Given the description of an element on the screen output the (x, y) to click on. 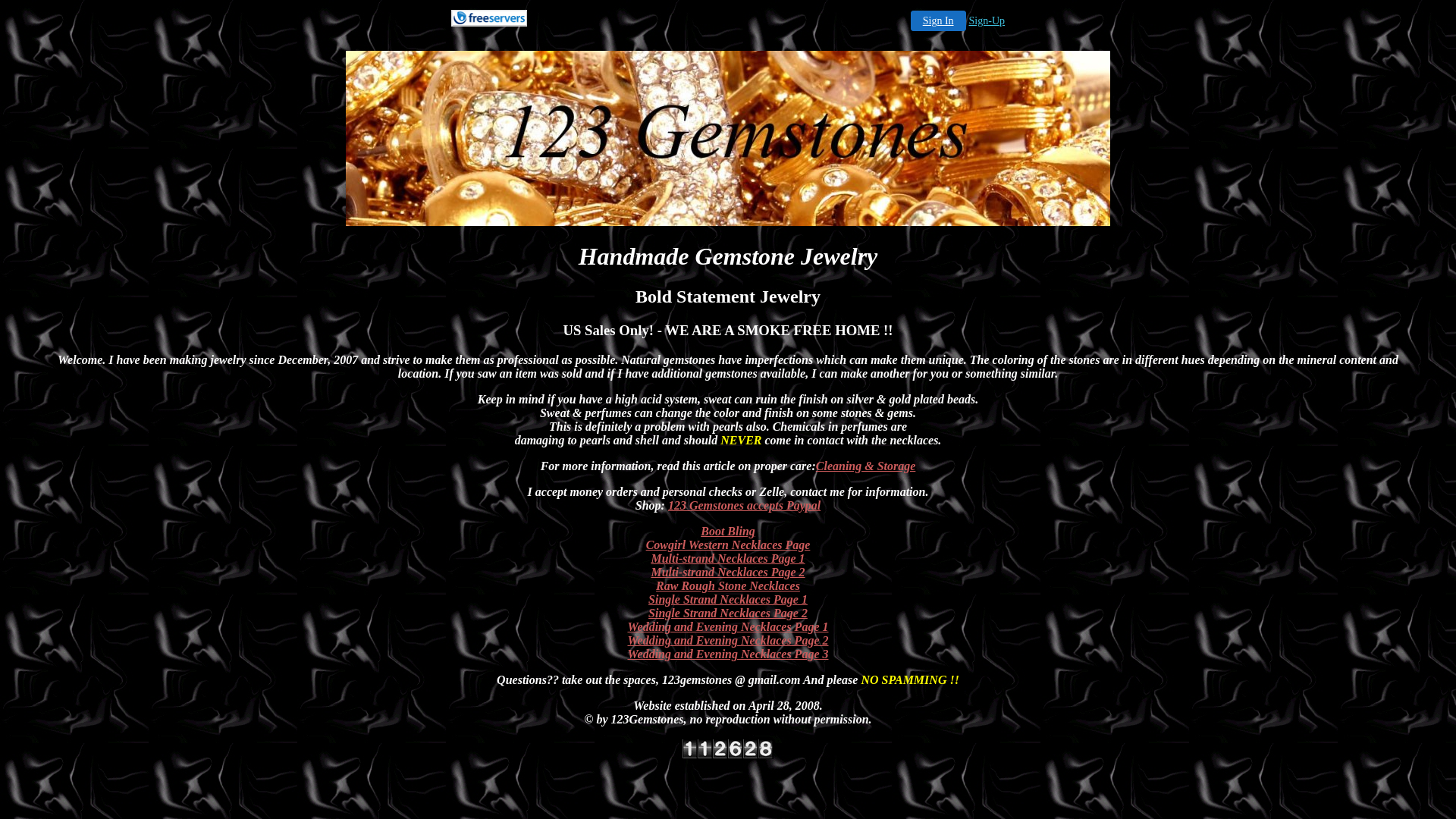
Raw Rough Stone Necklaces Element type: text (727, 585)
Cowgirl Western Necklaces Page Element type: text (728, 544)
Single Strand Necklaces Page 1 Element type: text (727, 599)
Cleaning & Storage Element type: text (865, 465)
Multi-strand Necklaces Page 2 Element type: text (727, 571)
Sign In Element type: text (938, 20)
Multi-strand Necklaces Page 1 Element type: text (727, 558)
Wedding and Evening Necklaces Page 1 Element type: text (727, 626)
Sign-Up Element type: text (986, 20)
123 Gemstones accepts Paypal Element type: text (744, 504)
Wedding and Evening Necklaces Page 2 Element type: text (727, 639)
Single Strand Necklaces Page 2 Element type: text (727, 612)
Boot Bling Element type: text (727, 530)
Wedding and Evening Necklaces Page 3 Element type: text (727, 653)
